Given the description of an element on the screen output the (x, y) to click on. 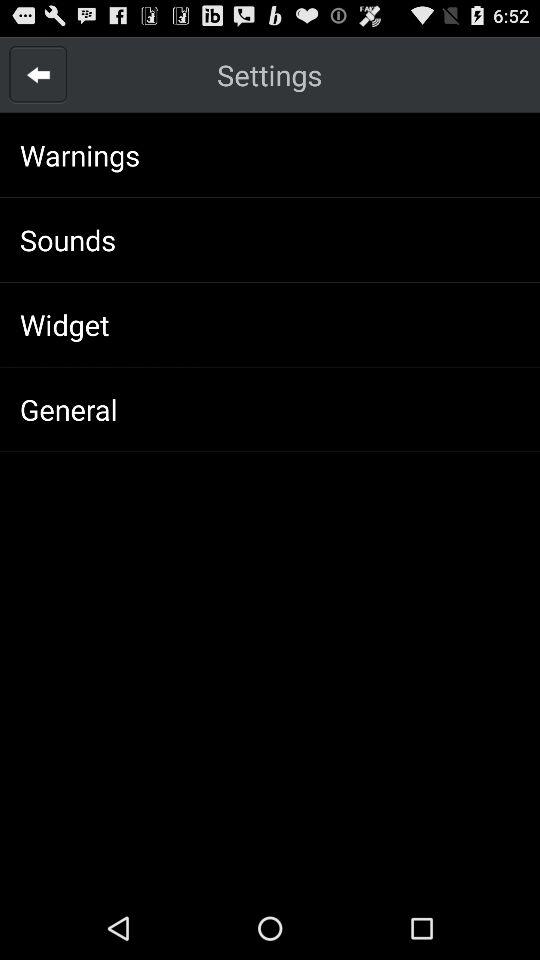
a back button (38, 74)
